Given the description of an element on the screen output the (x, y) to click on. 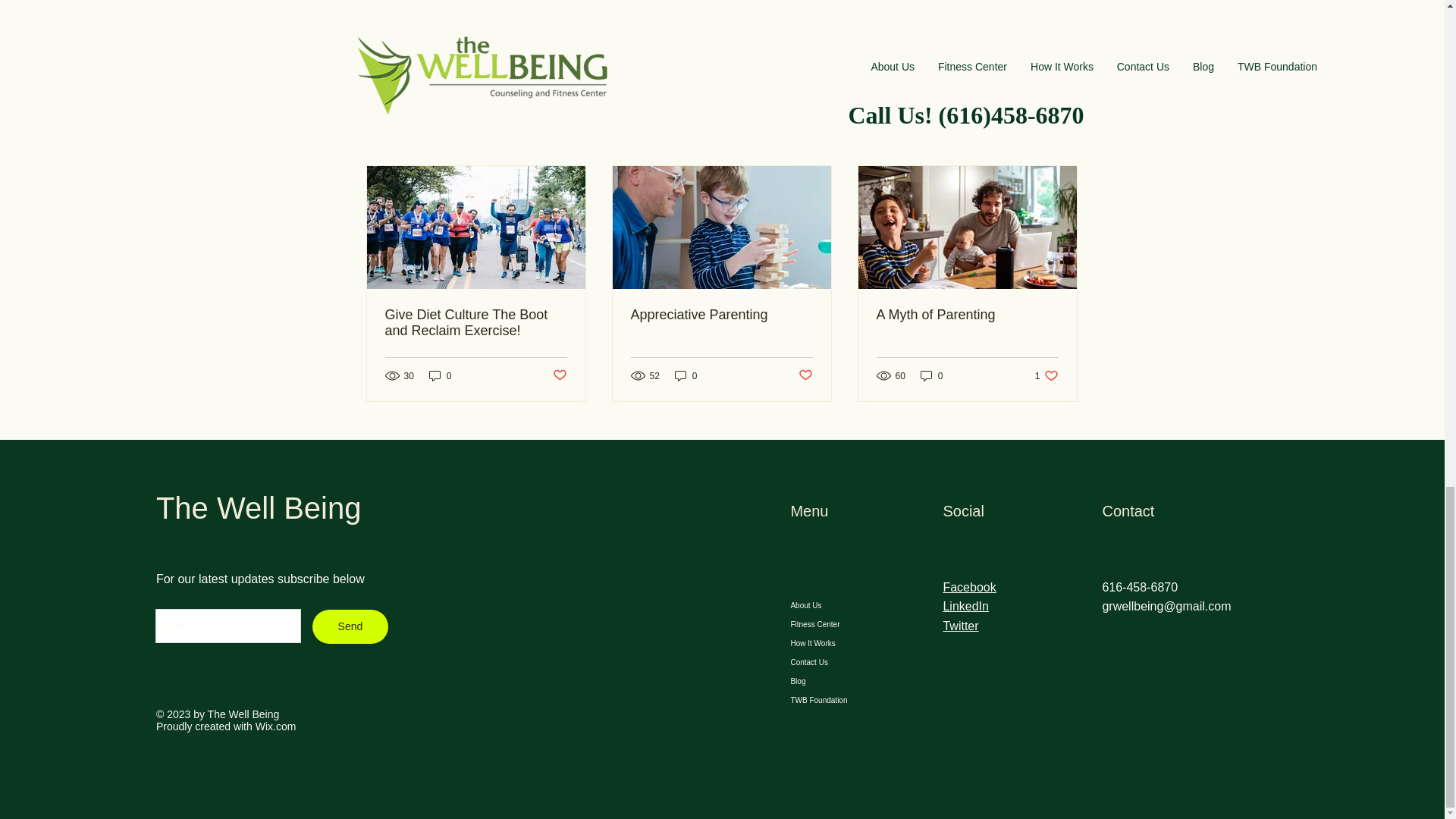
Give Diet Culture The Boot and Reclaim Exercise! (476, 323)
A Myth of Parenting (967, 314)
About Us (836, 605)
Wix.com (276, 726)
0 (1046, 375)
How It Works (440, 375)
Send (836, 642)
Appreciative Parenting (350, 626)
Blog (721, 314)
